Given the description of an element on the screen output the (x, y) to click on. 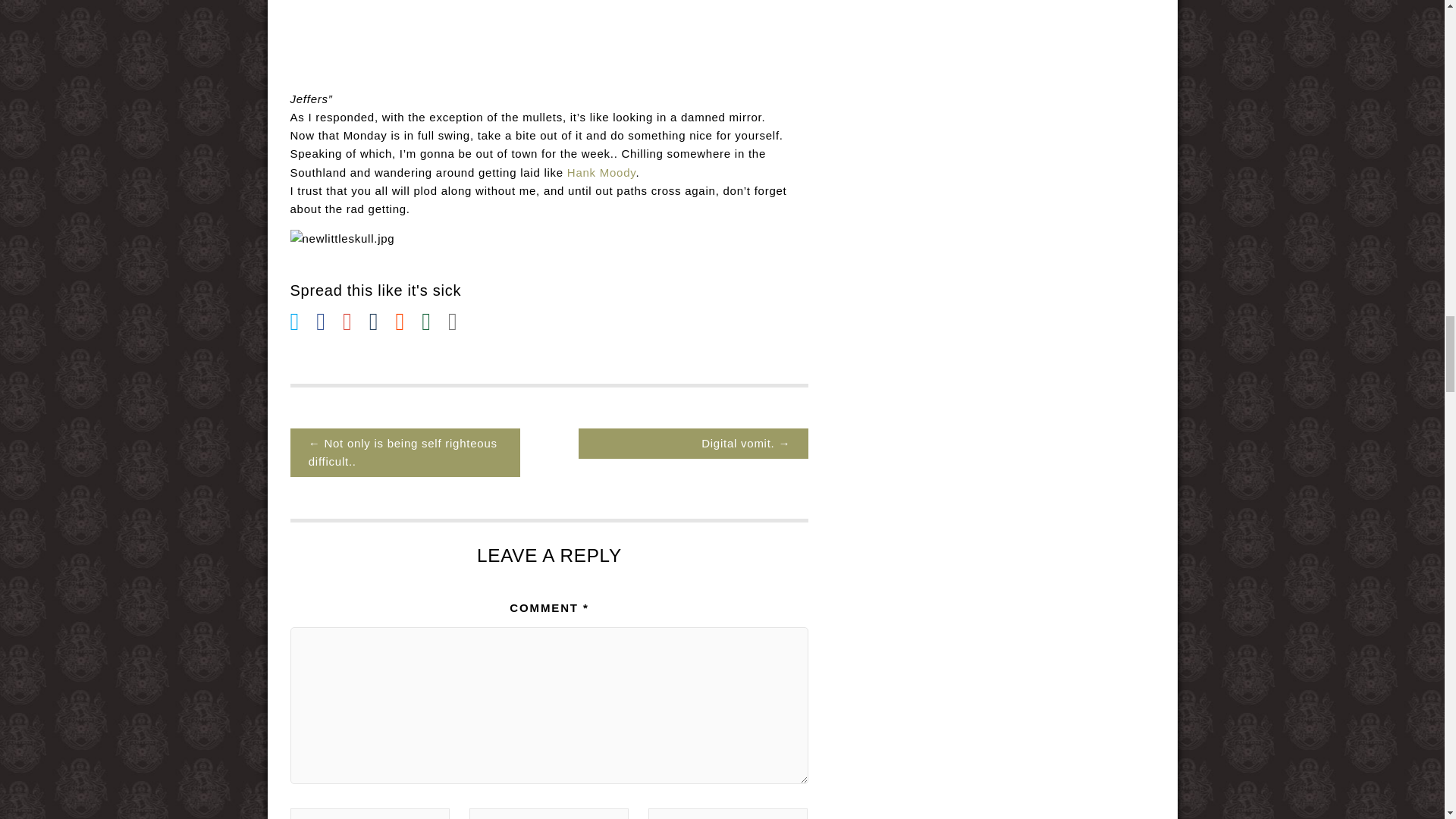
Hank Moody (601, 172)
